Given the description of an element on the screen output the (x, y) to click on. 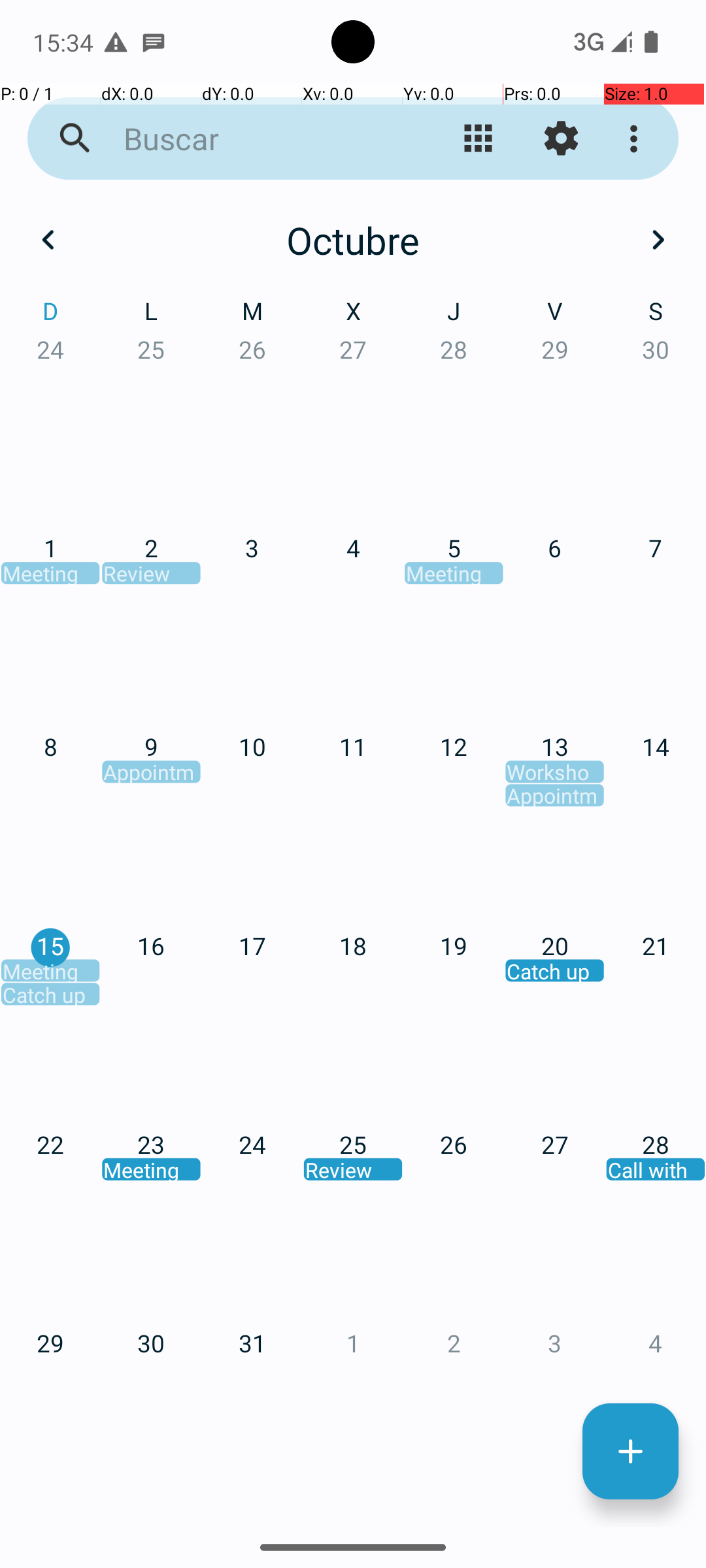
Octubre Element type: android.widget.TextView (352, 239)
